Given the description of an element on the screen output the (x, y) to click on. 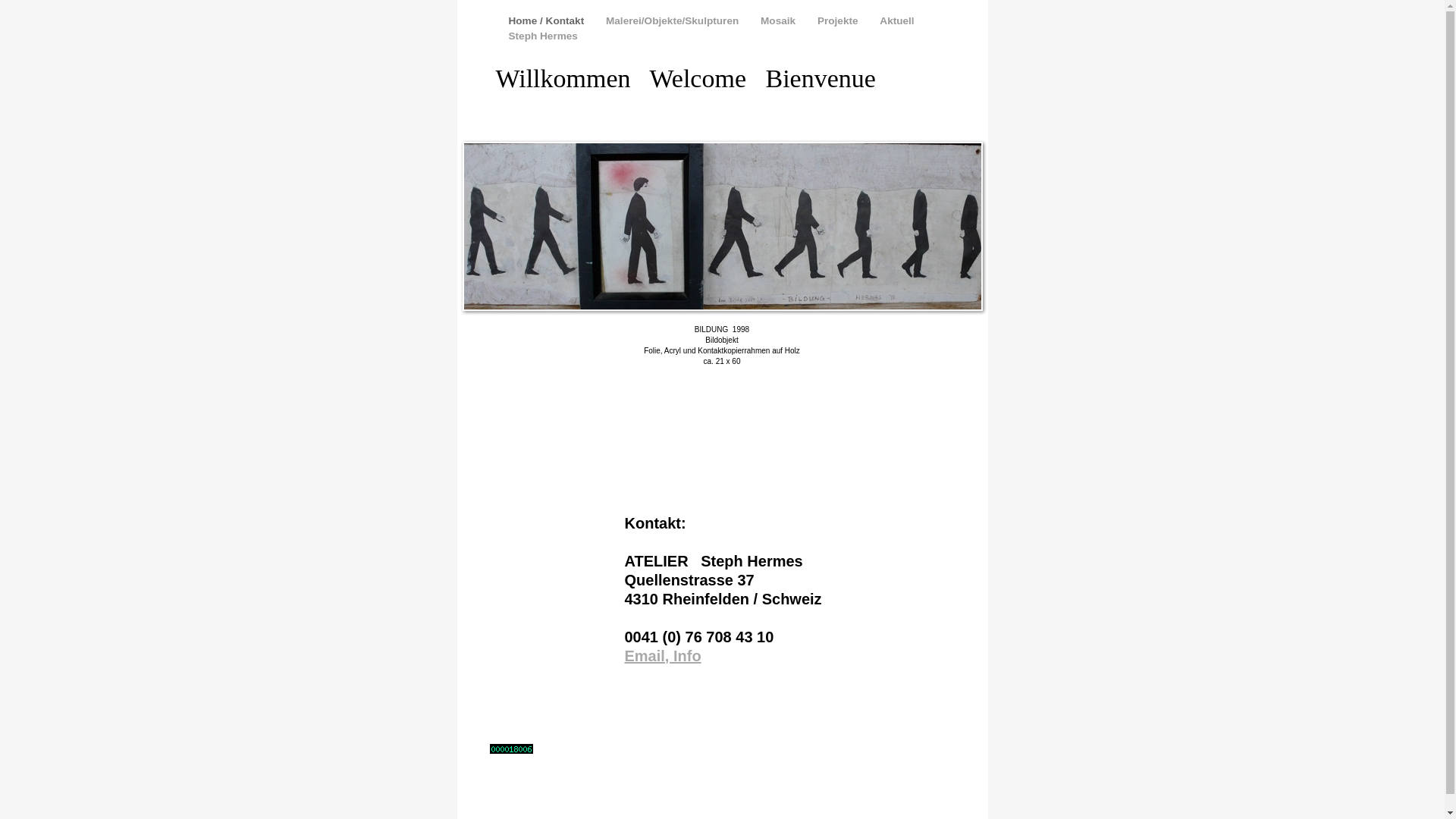
Email, Info Element type: text (662, 655)
Malerei/Objekte/Skulpturen Element type: text (673, 20)
Mosaik Element type: text (779, 20)
Steph Hermes Element type: text (542, 35)
Home / Kontakt Element type: text (547, 20)
Projekte Element type: text (838, 20)
Aktuell Element type: text (896, 20)
